Given the description of an element on the screen output the (x, y) to click on. 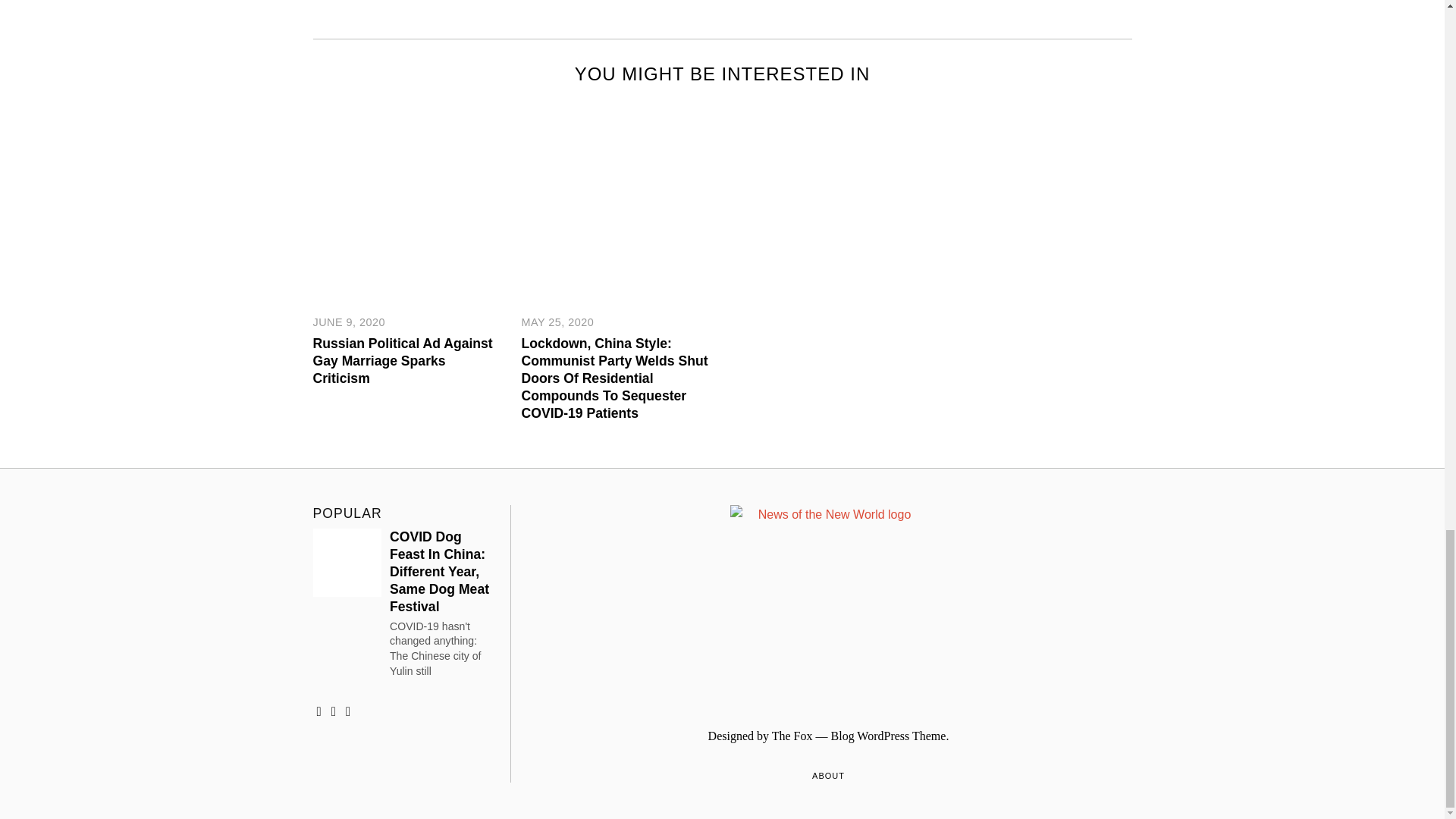
Russian Political Ad Against Gay Marriage Sparks Criticism (402, 360)
